Given the description of an element on the screen output the (x, y) to click on. 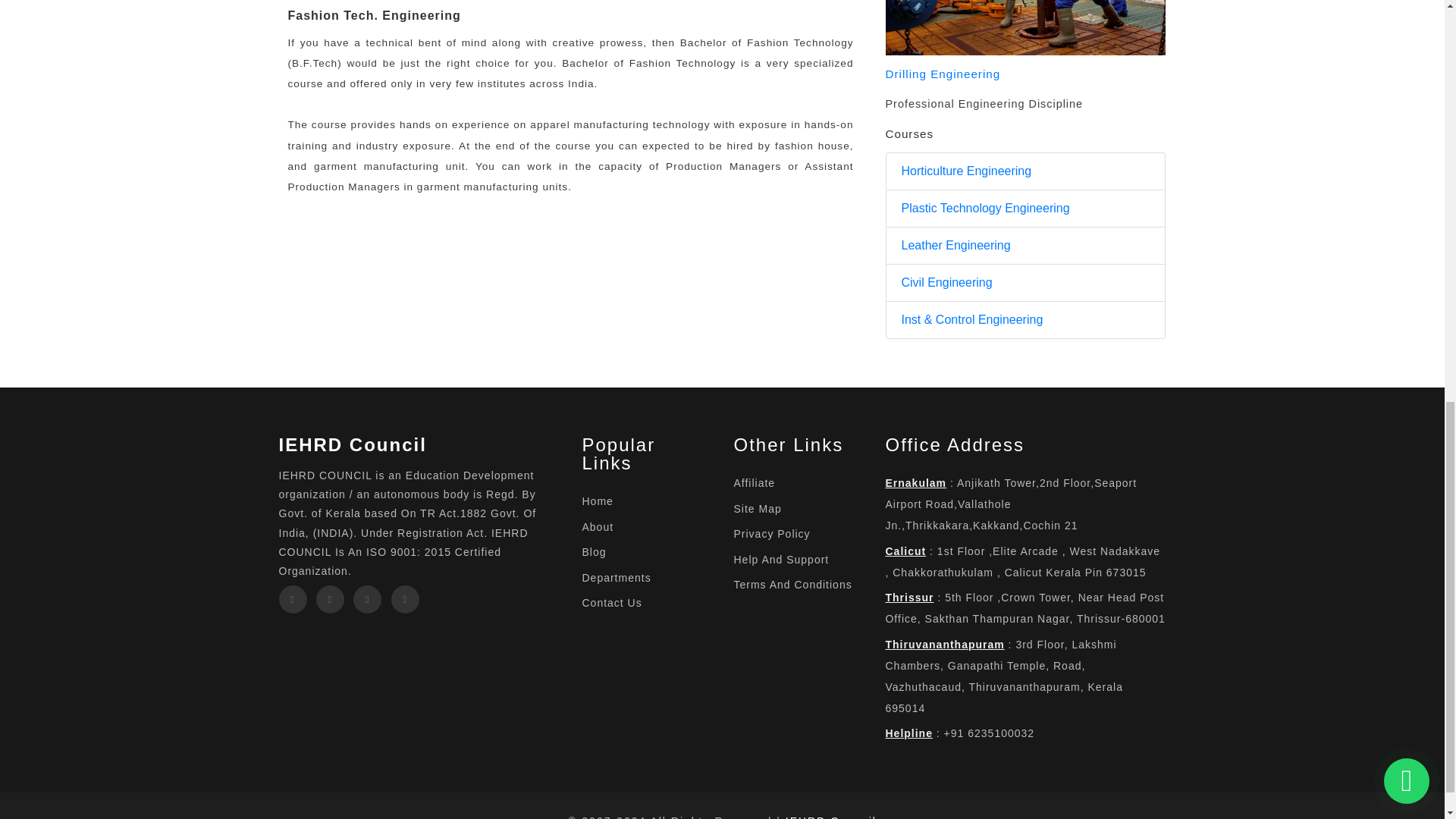
IEHRD Council (352, 444)
Civil Engineering (946, 282)
Leather Engineering (955, 245)
Fashion Tech. Engineering (374, 15)
Horticulture Engineering (965, 171)
Home (596, 500)
Plastic Technology Engineering (984, 208)
Drilling Engineering (943, 73)
